Given the description of an element on the screen output the (x, y) to click on. 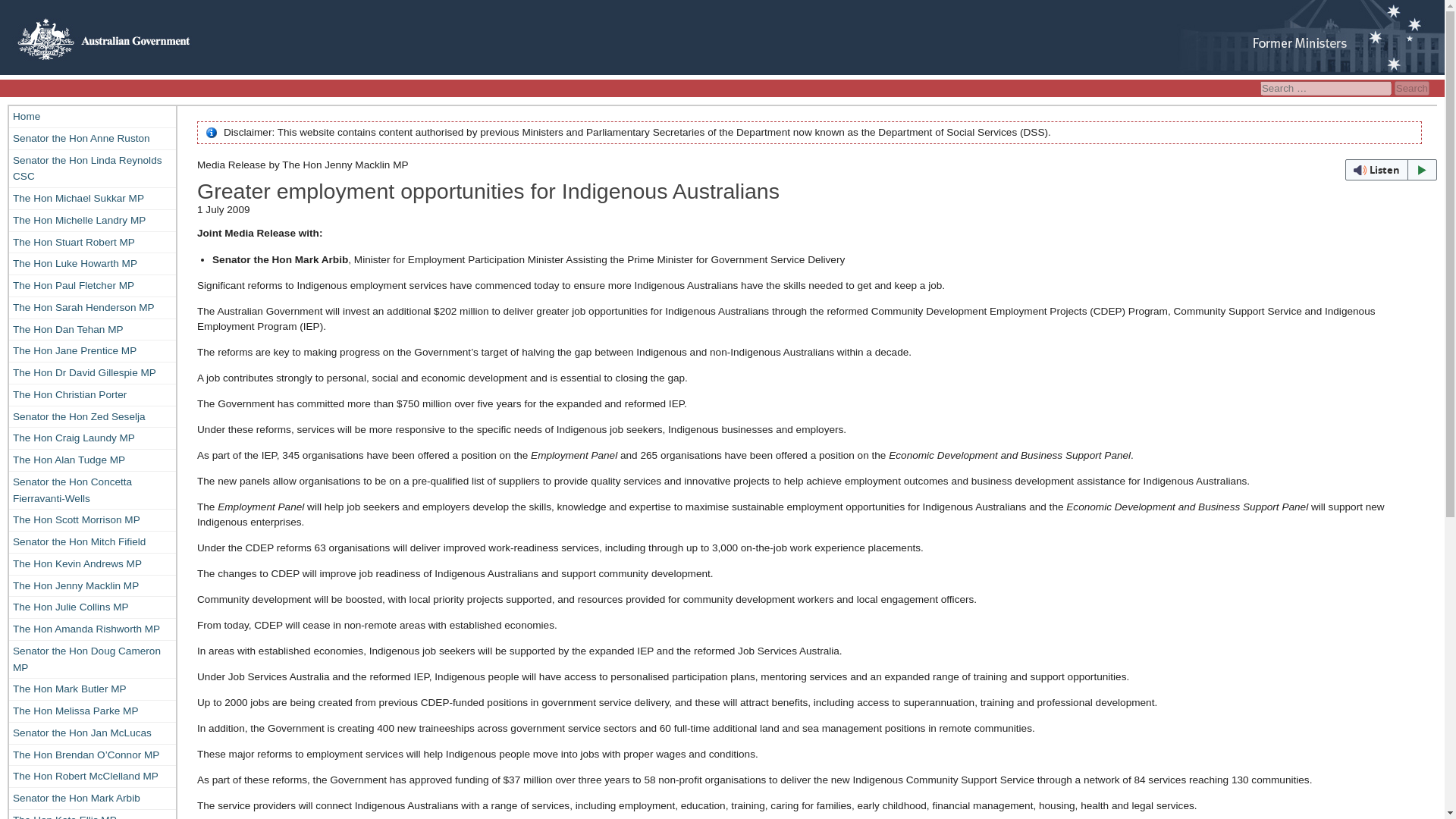
Search (1411, 88)
The Hon Luke Howarth MP (92, 263)
Senator the Hon Linda Reynolds CSC (92, 168)
Search (1411, 88)
The Hon Dan Tehan MP (92, 328)
The Hon Sarah Henderson MP (92, 307)
The Hon Stuart Robert MP (92, 242)
ReadSpeaker webReader: Listen with webReader (1391, 169)
The Hon Jane Prentice MP (92, 350)
Senator the Hon Anne Ruston (92, 138)
Home (92, 116)
The Hon Paul Fletcher MP (92, 285)
The Hon Michelle Landry MP (92, 219)
Search (1411, 88)
The Hon Michael Sukkar MP (92, 198)
